Given the description of an element on the screen output the (x, y) to click on. 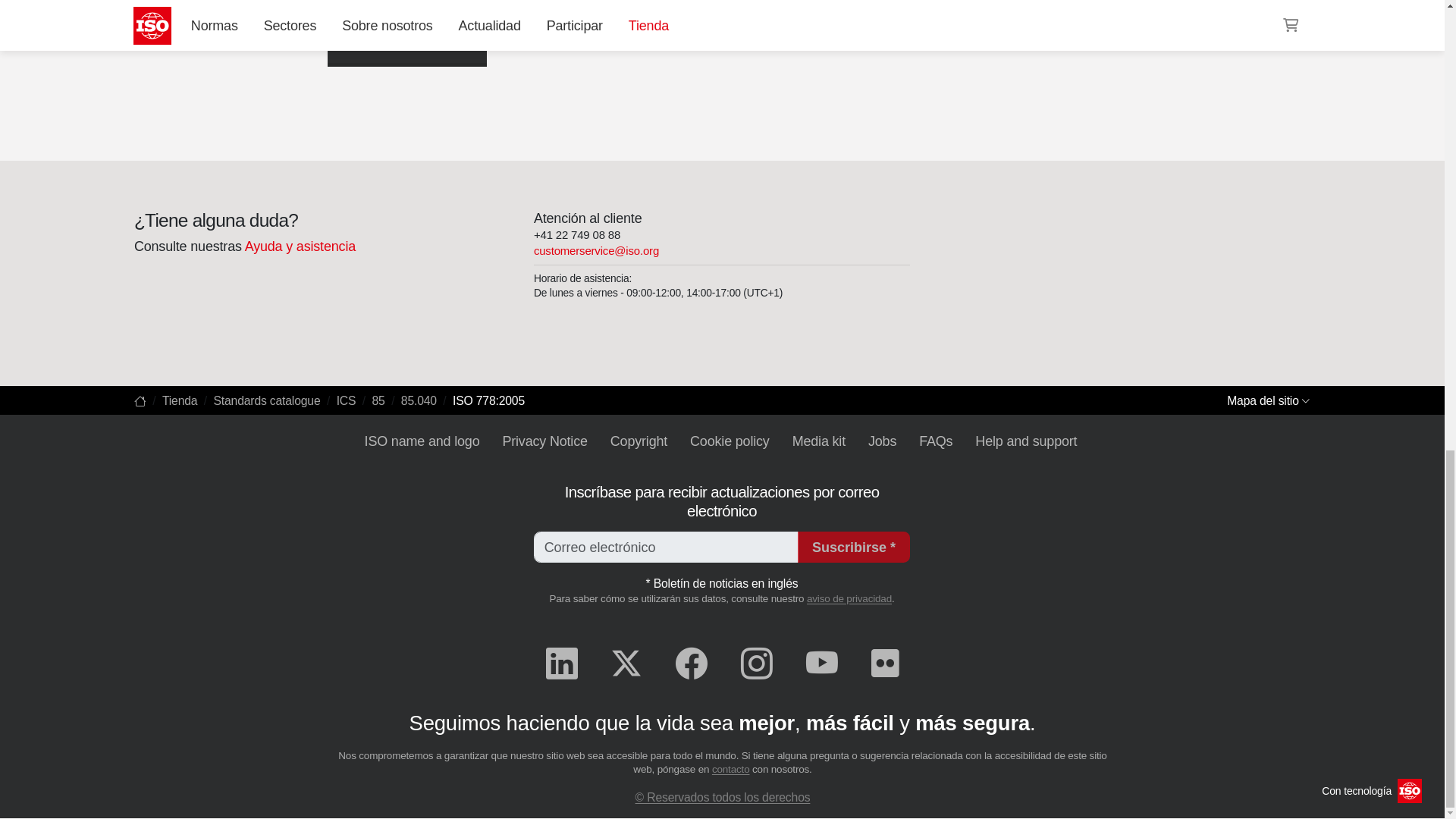
ISO 778:2001 (191, 17)
Etapa: 95.99 (377, 41)
